Given the description of an element on the screen output the (x, y) to click on. 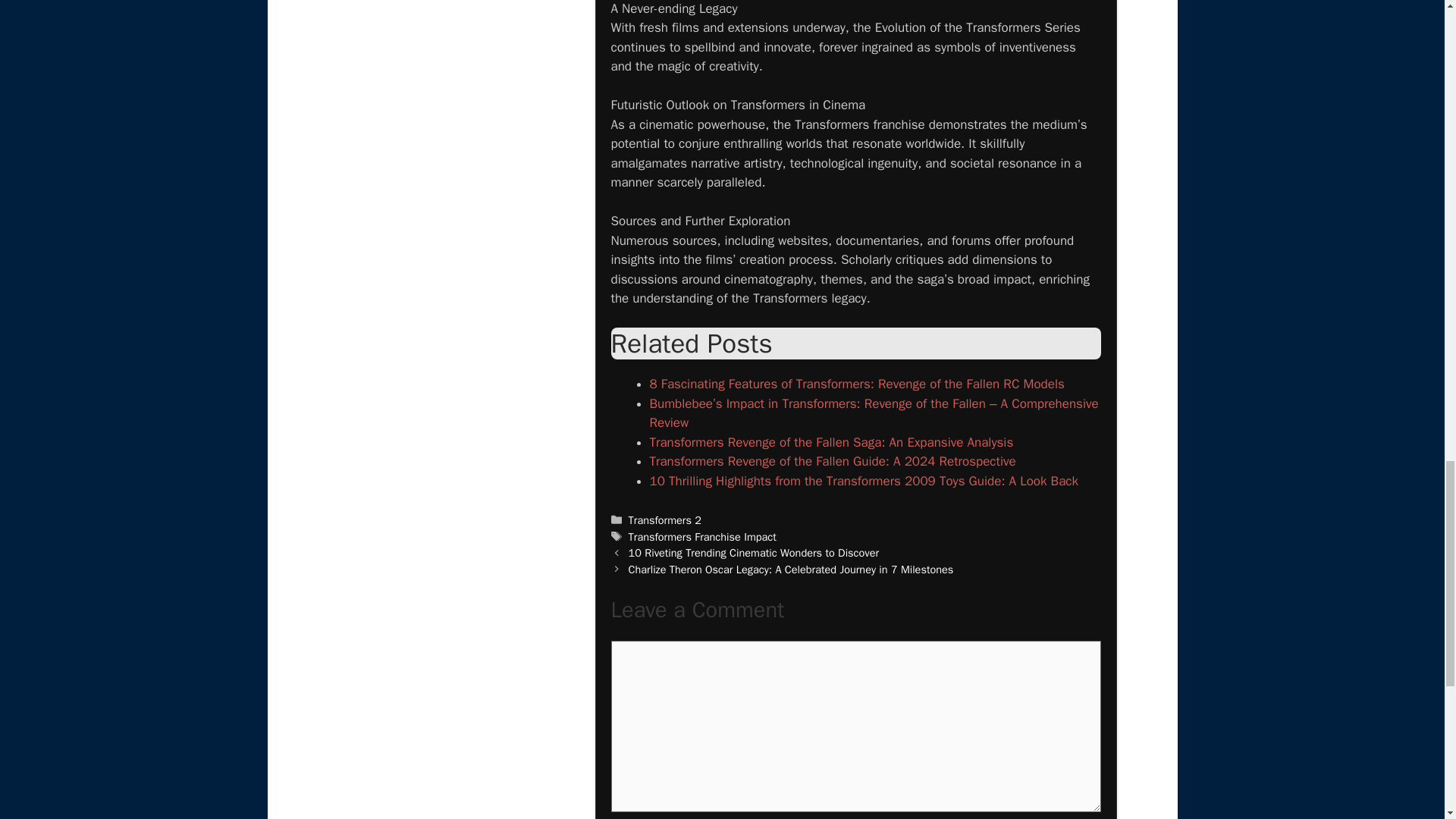
Transformers 2 (664, 520)
Transformers Franchise Impact (702, 536)
10 Riveting Trending Cinematic Wonders to Discover (753, 552)
